Given the description of an element on the screen output the (x, y) to click on. 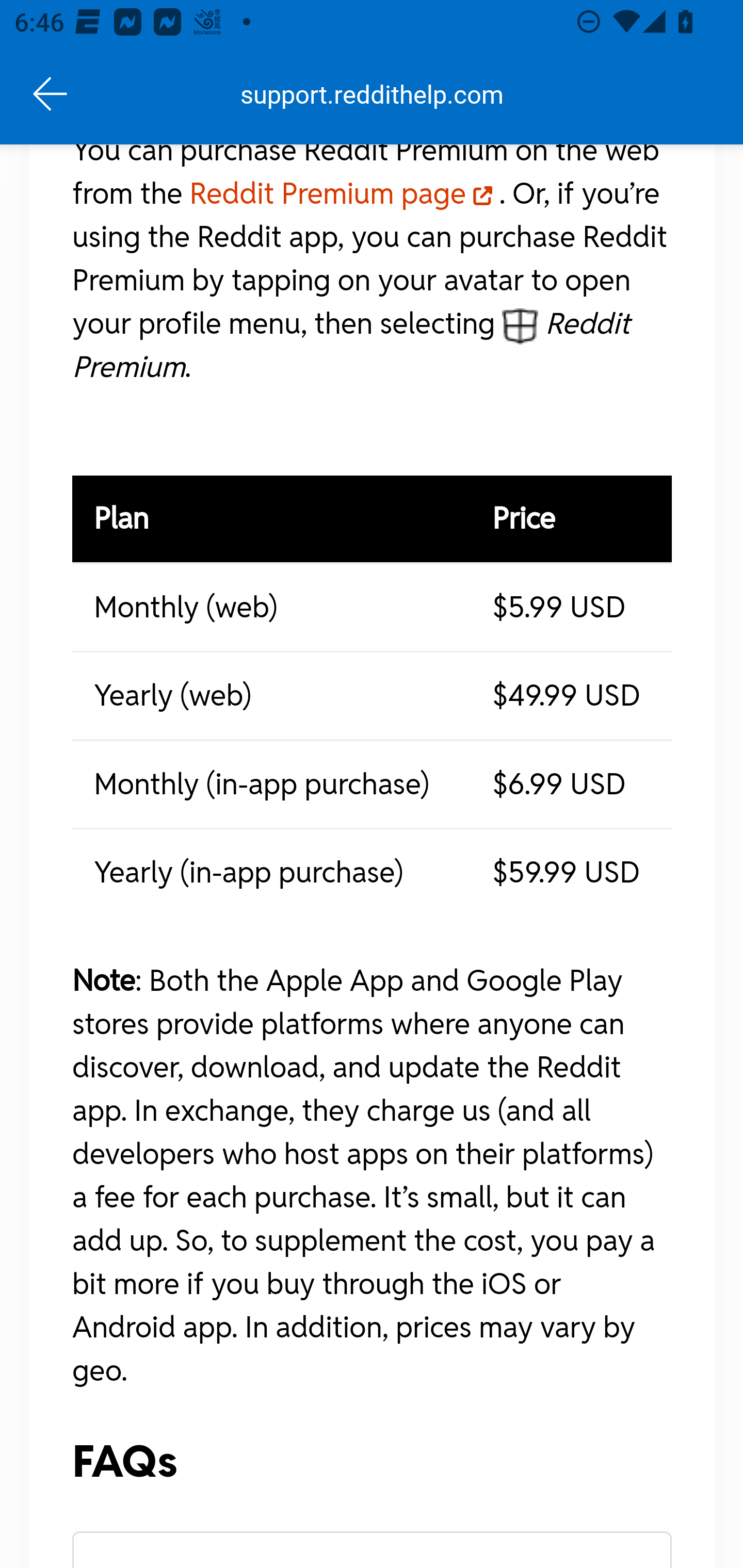
Back (50, 93)
Reddit Premium page Reddit Premium page  (343, 195)
